Given the description of an element on the screen output the (x, y) to click on. 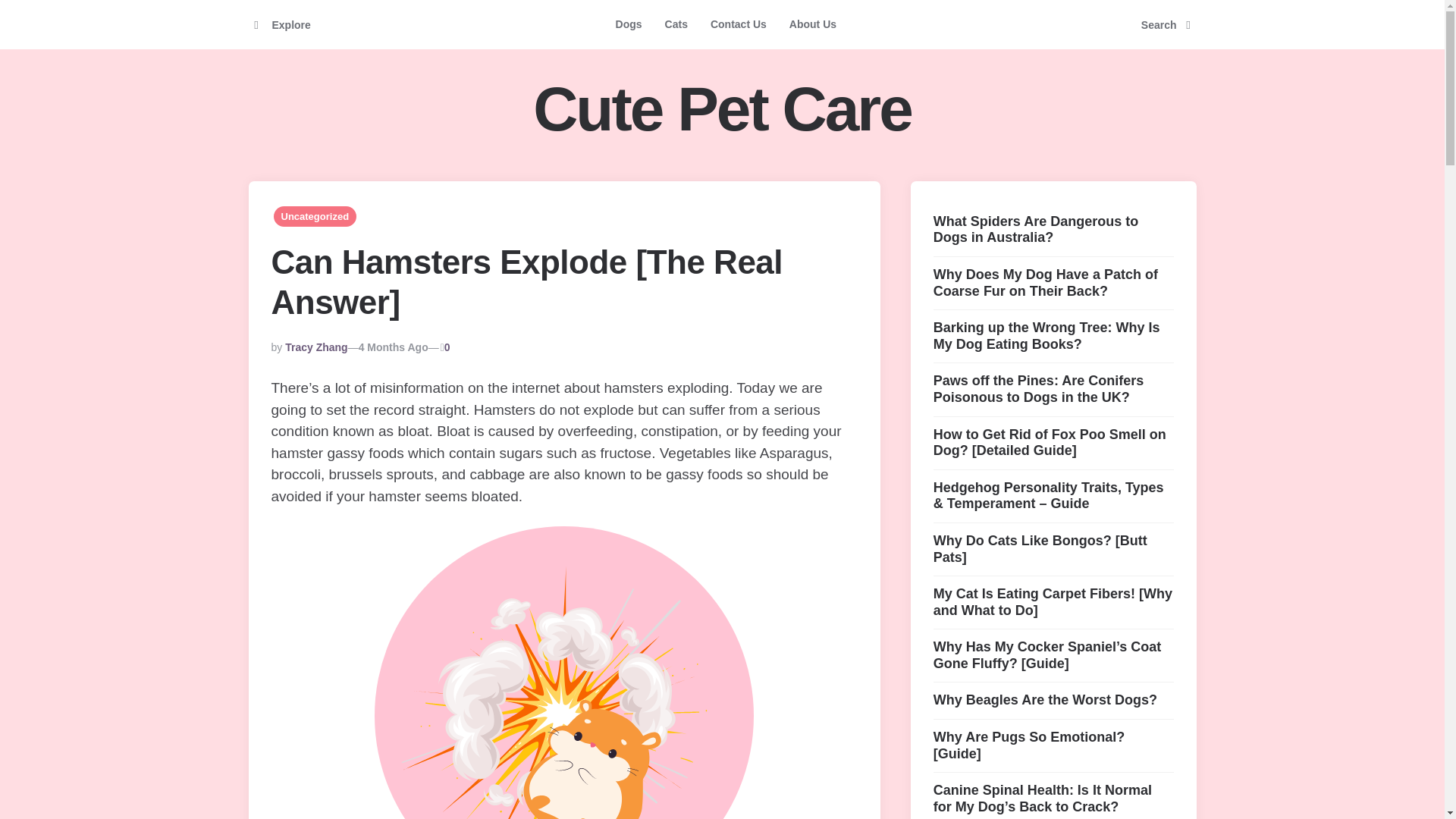
Cats (675, 24)
Tracy Zhang (316, 346)
About Us (812, 24)
Dogs (628, 24)
Cute Pet Care (721, 109)
Contact Us (737, 24)
Uncategorized (314, 216)
